Given the description of an element on the screen output the (x, y) to click on. 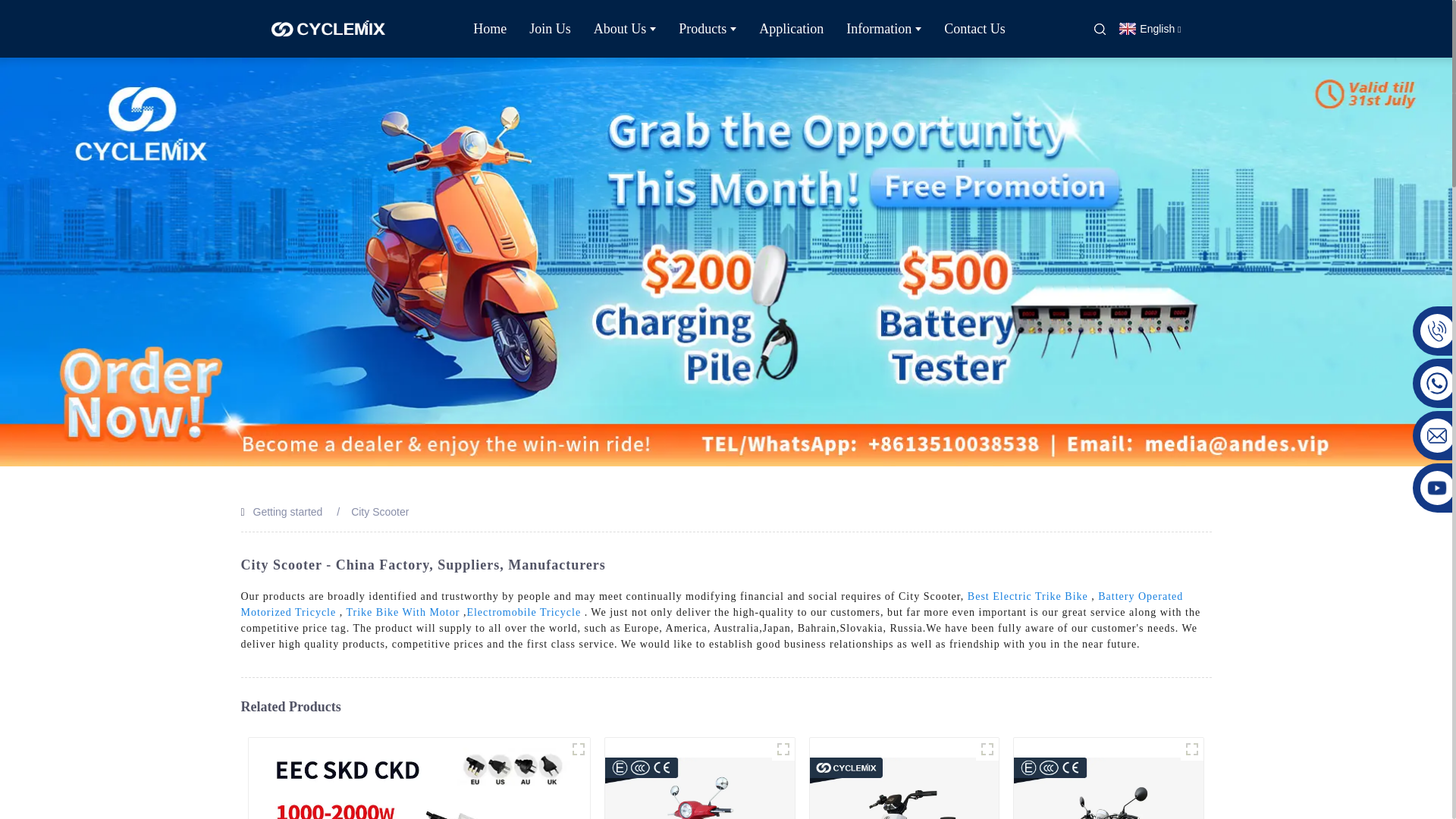
Best Electric Trike Bike (1027, 595)
Contact Us (974, 28)
Best Electric Trike Bike (1027, 595)
Battery Operated Motorized Tricycle (712, 604)
Electromobile Tricycle (522, 612)
Products (707, 28)
Electromobile Tricycle (522, 612)
Trike Bike With Motor (403, 612)
Battery Operated Motorized Tricycle (712, 604)
English (1149, 28)
